Given the description of an element on the screen output the (x, y) to click on. 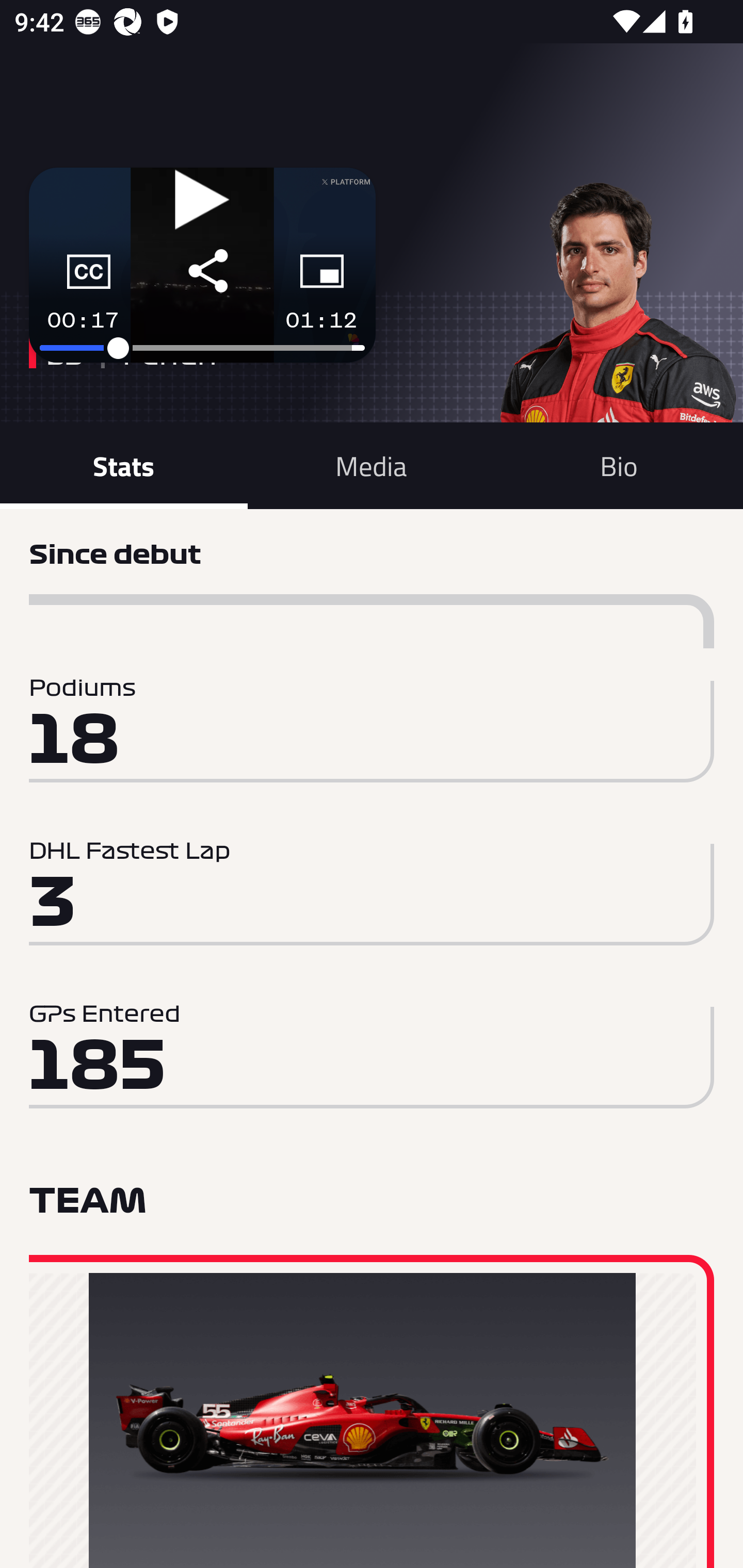
Media (371, 465)
Bio (619, 465)
